Given the description of an element on the screen output the (x, y) to click on. 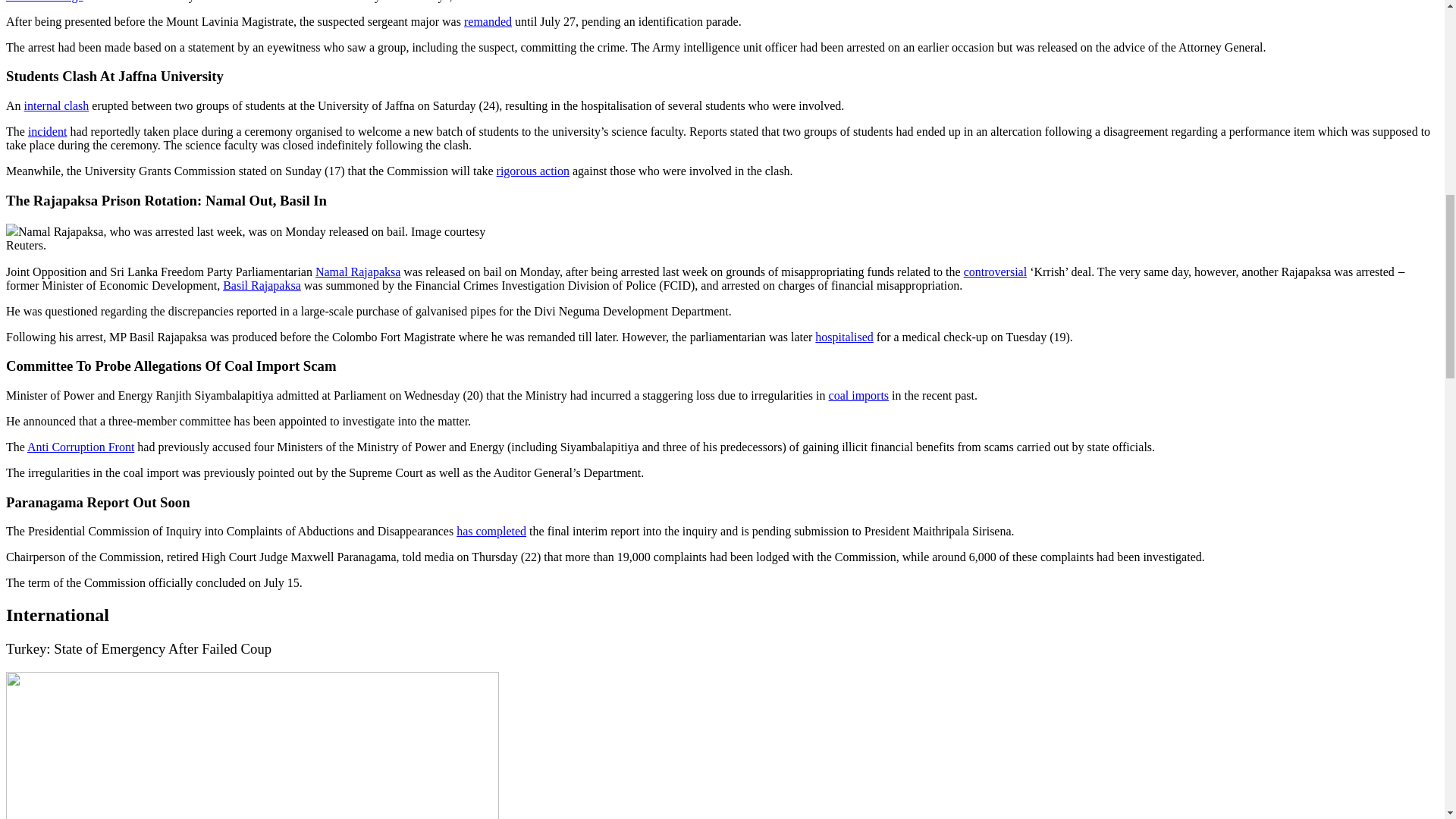
rigorous action (532, 170)
remanded (488, 21)
internal clash (56, 105)
controversial (995, 271)
Basil Rajapaksa (261, 285)
incident (46, 131)
has completed (491, 530)
Namal Rajapaksa (357, 271)
Anti Corruption Front (80, 446)
hospitalised (843, 336)
coal imports (858, 395)
Wickrematunge (43, 1)
